Given the description of an element on the screen output the (x, y) to click on. 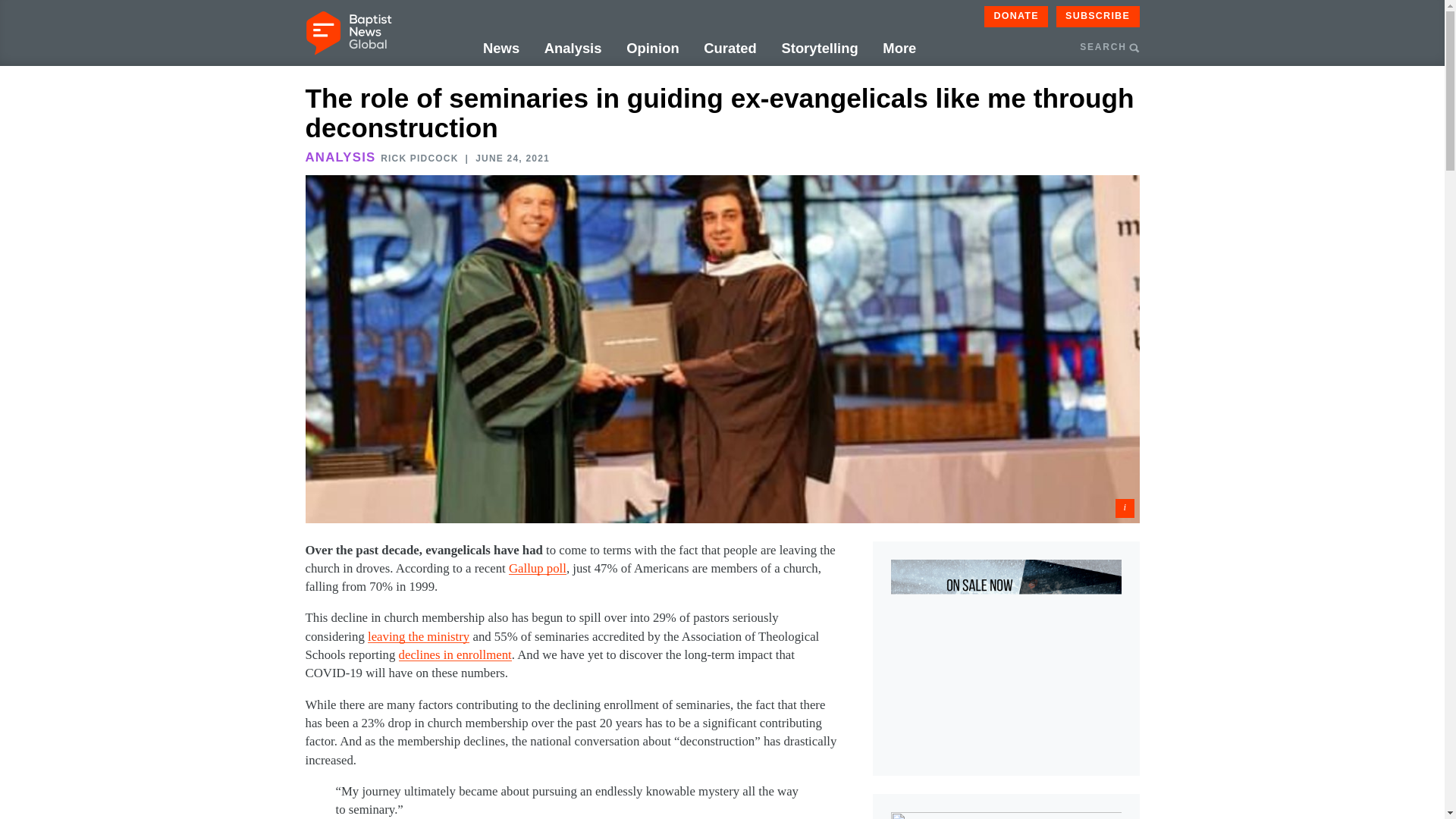
Storytelling (819, 49)
Analysis (573, 49)
Search (1193, 119)
More (898, 49)
Posts by Rick Pidcock (419, 158)
News (501, 49)
Curated (729, 49)
SUBSCRIBE (1098, 16)
DONATE (1016, 16)
Opinion (652, 49)
ANALYSIS (339, 156)
